Given the description of an element on the screen output the (x, y) to click on. 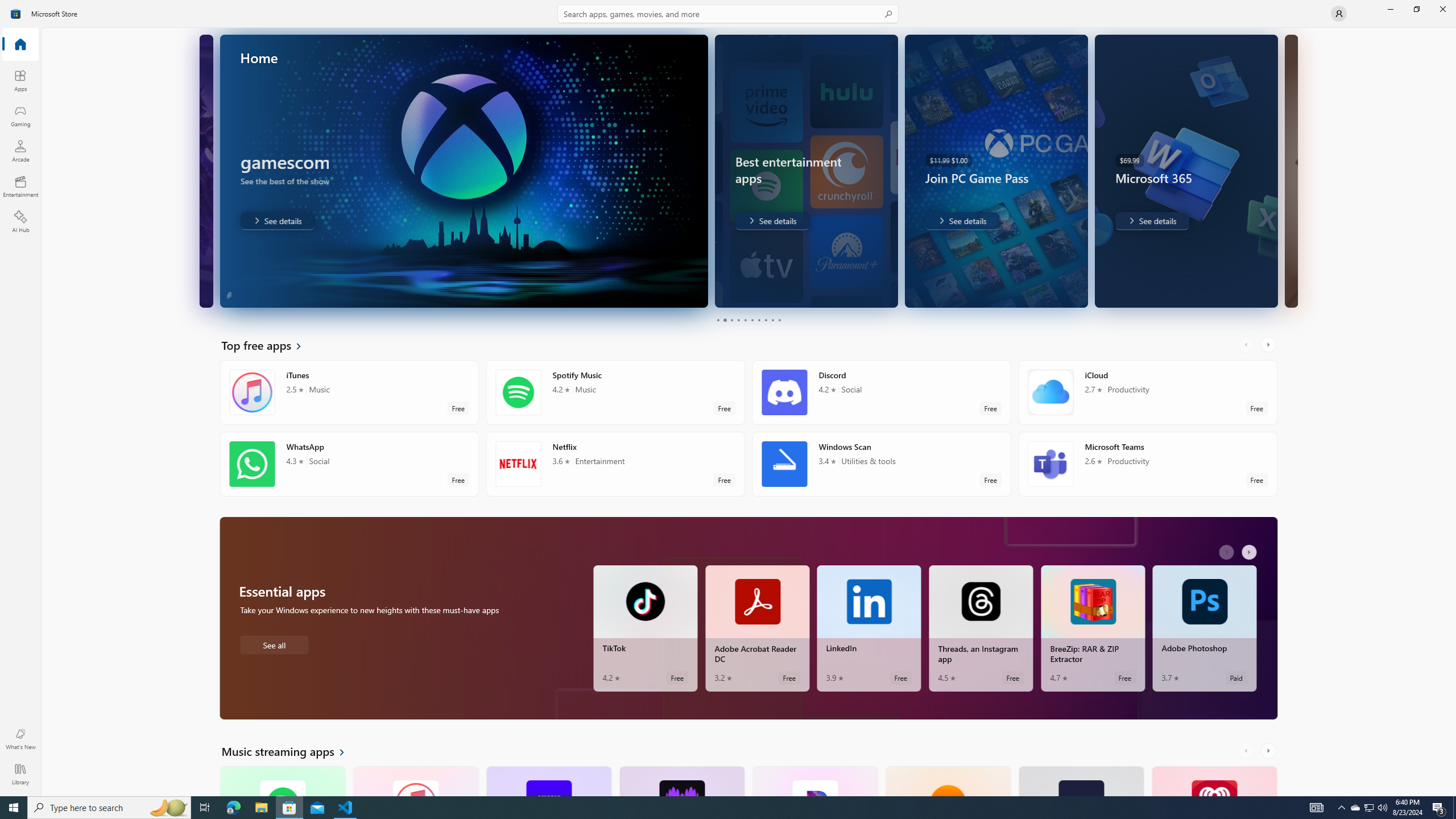
Entertainment (20, 185)
Minimize Microsoft Store (1390, 9)
See all  Essential apps (274, 644)
Page 7 (758, 319)
Page 1 (717, 319)
AutomationID: NavigationControl (728, 398)
Page 8 (764, 319)
Restore Microsoft Store (1416, 9)
Page 10 (779, 319)
